Given the description of an element on the screen output the (x, y) to click on. 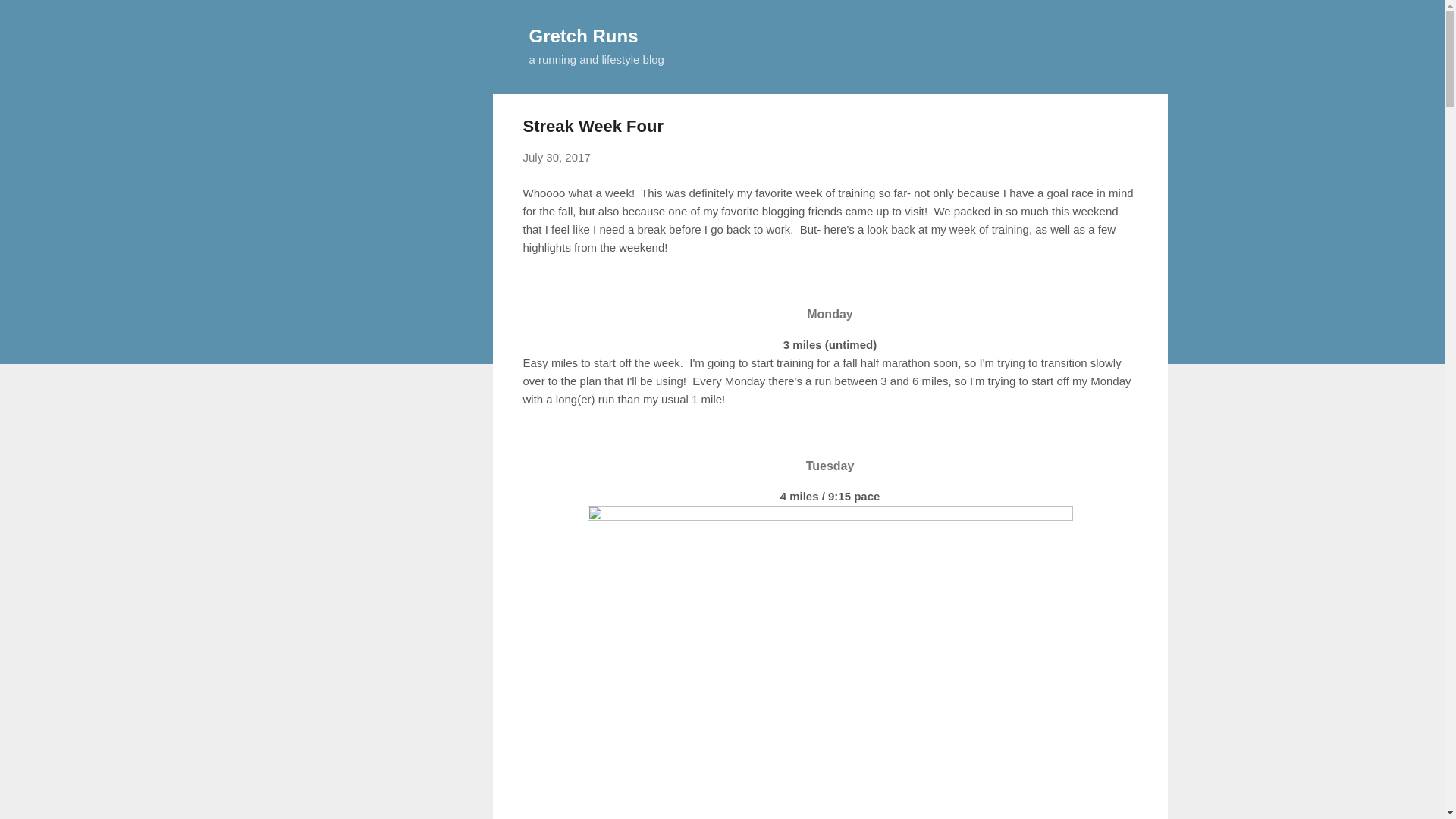
Search (29, 18)
permanent link (556, 156)
Gretch Runs (584, 35)
July 30, 2017 (556, 156)
